Given the description of an element on the screen output the (x, y) to click on. 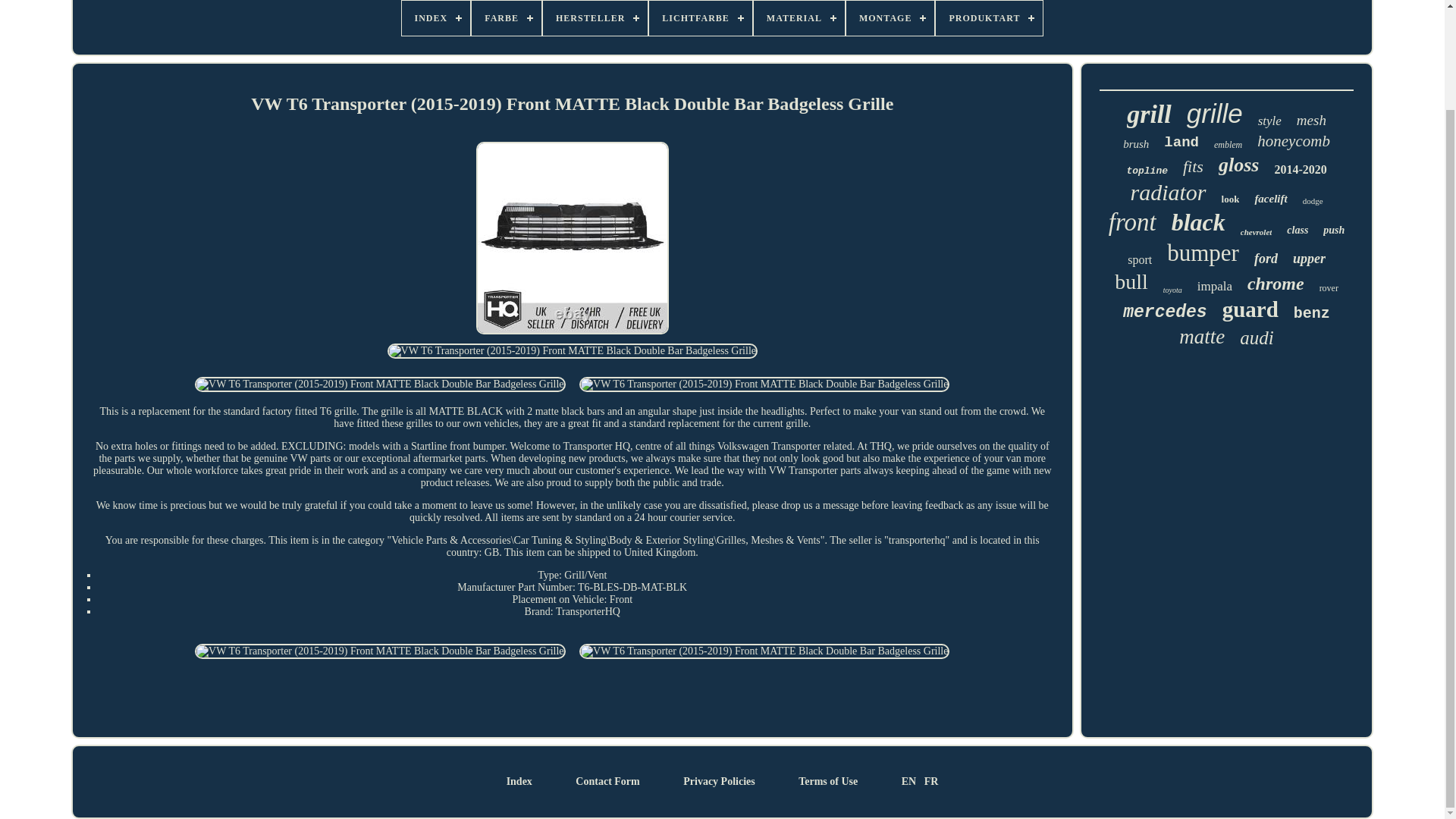
HERSTELLER (595, 18)
FARBE (506, 18)
INDEX (435, 18)
